Given the description of an element on the screen output the (x, y) to click on. 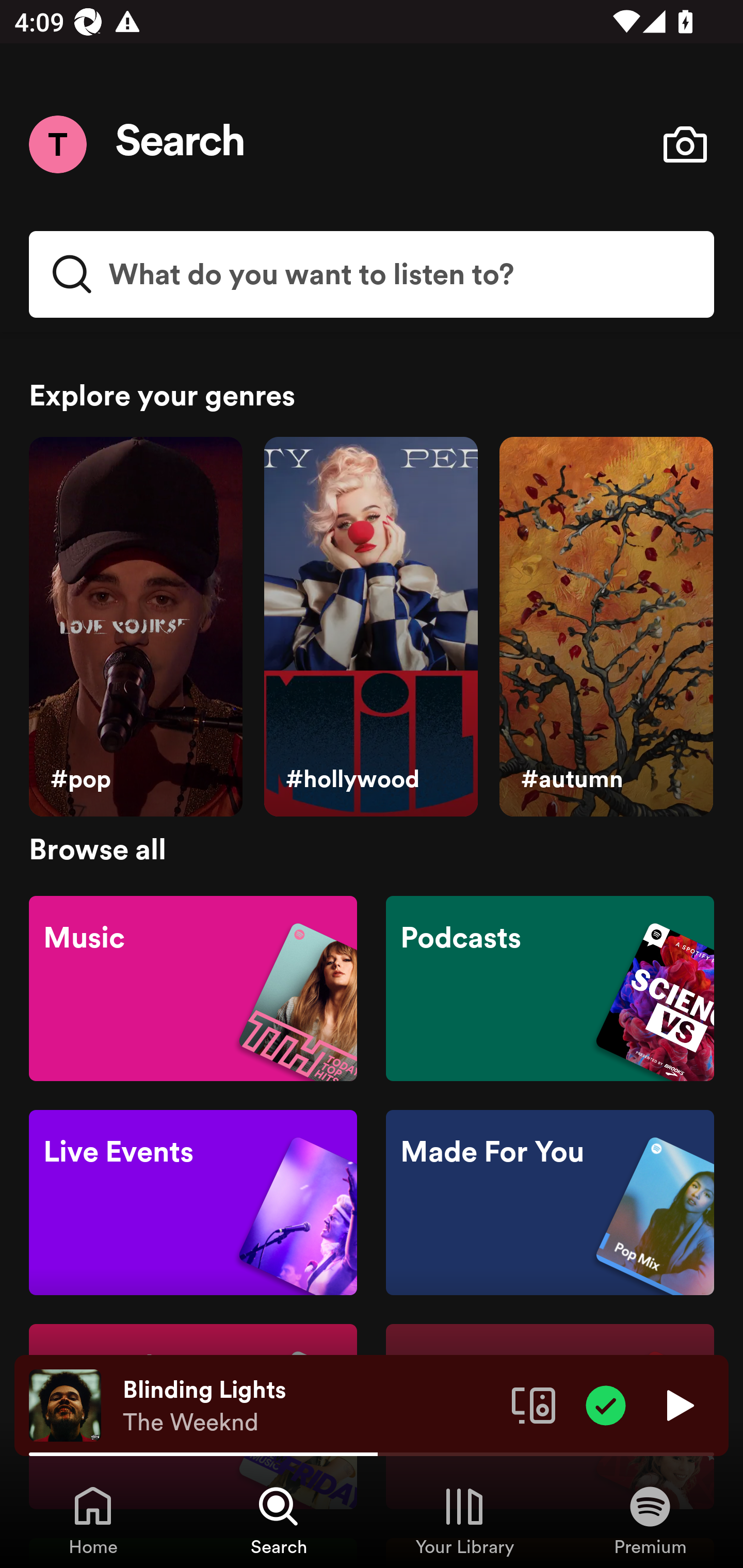
Menu (57, 144)
Open camera (685, 145)
Search (180, 144)
#pop (135, 626)
#hollywood (370, 626)
#autumn (606, 626)
Music (192, 987)
Podcasts (549, 987)
Live Events (192, 1202)
Made For You (549, 1202)
Blinding Lights The Weeknd (309, 1405)
The cover art of the currently playing track (64, 1404)
Connect to a device. Opens the devices menu (533, 1404)
Item added (605, 1404)
Play (677, 1404)
Home, Tab 1 of 4 Home Home (92, 1519)
Search, Tab 2 of 4 Search Search (278, 1519)
Your Library, Tab 3 of 4 Your Library Your Library (464, 1519)
Premium, Tab 4 of 4 Premium Premium (650, 1519)
